Given the description of an element on the screen output the (x, y) to click on. 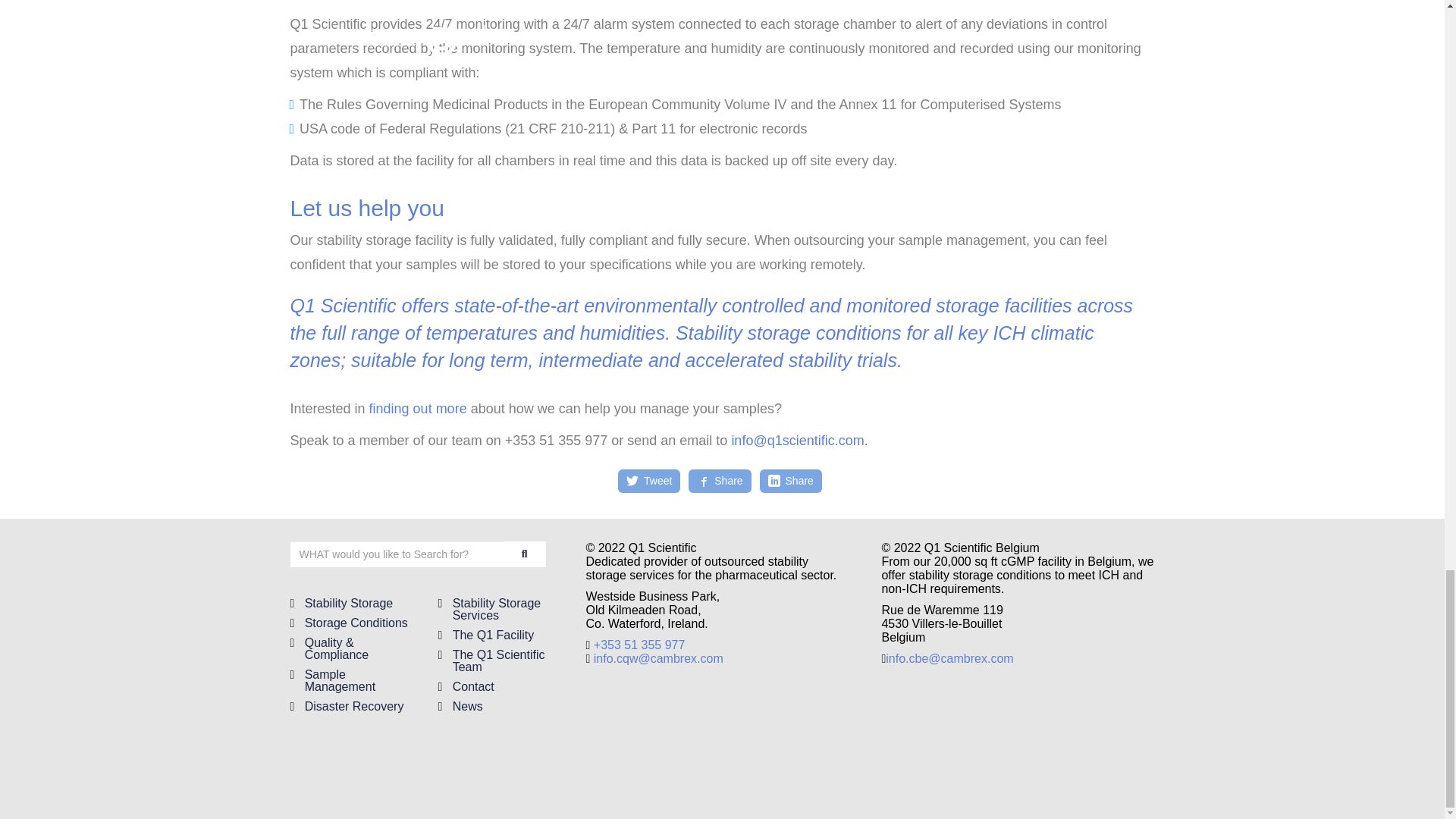
Share on Facebook (719, 480)
Share on LinkedIn (790, 480)
Tweet (649, 480)
finding out more (418, 408)
Stability Storage (348, 603)
Storage Conditions (355, 622)
Share (719, 480)
Share (790, 480)
Share on Twitter (649, 480)
